Given the description of an element on the screen output the (x, y) to click on. 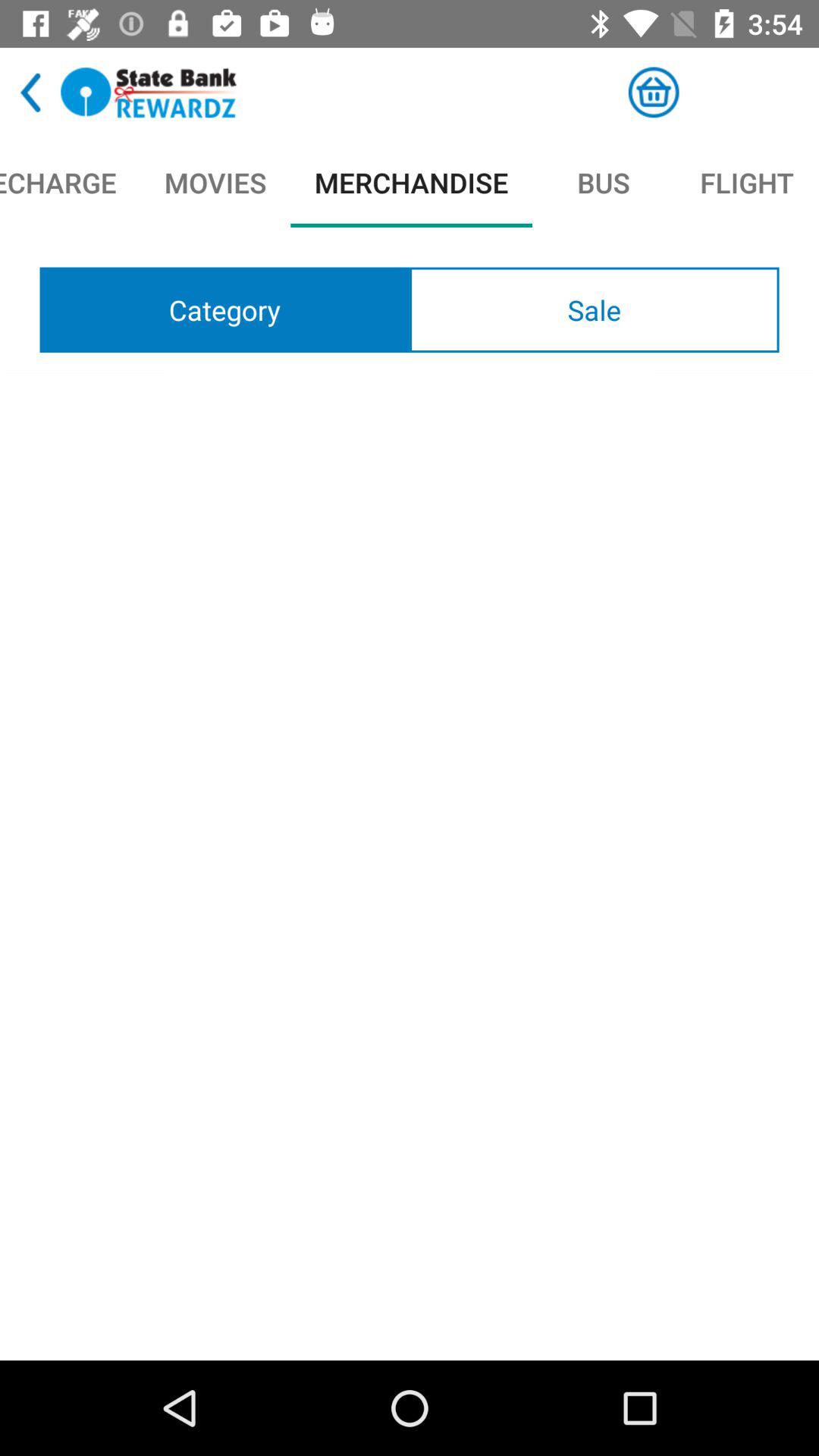
go back previous (30, 92)
